Given the description of an element on the screen output the (x, y) to click on. 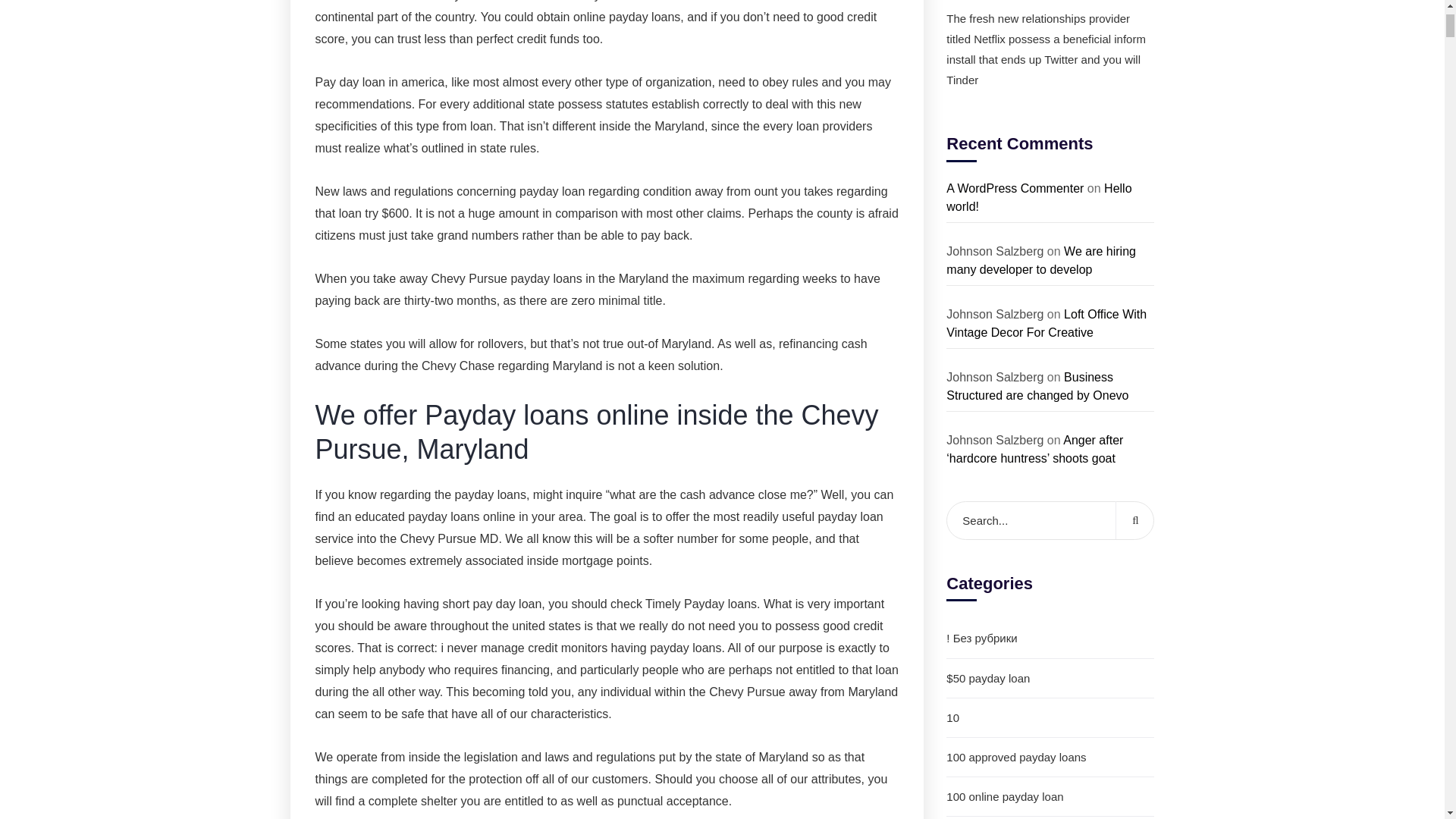
Hello world! (1038, 196)
We are hiring many developer to develop (1040, 260)
100 approved payday loans (1050, 757)
Business Structured are changed by Onevo (1037, 386)
A WordPress Commenter (1014, 187)
10 (1050, 717)
Loft Office With Vintage Decor For Creative (1046, 323)
100 online payday loan (1050, 796)
100 payday loan (1050, 817)
